Given the description of an element on the screen output the (x, y) to click on. 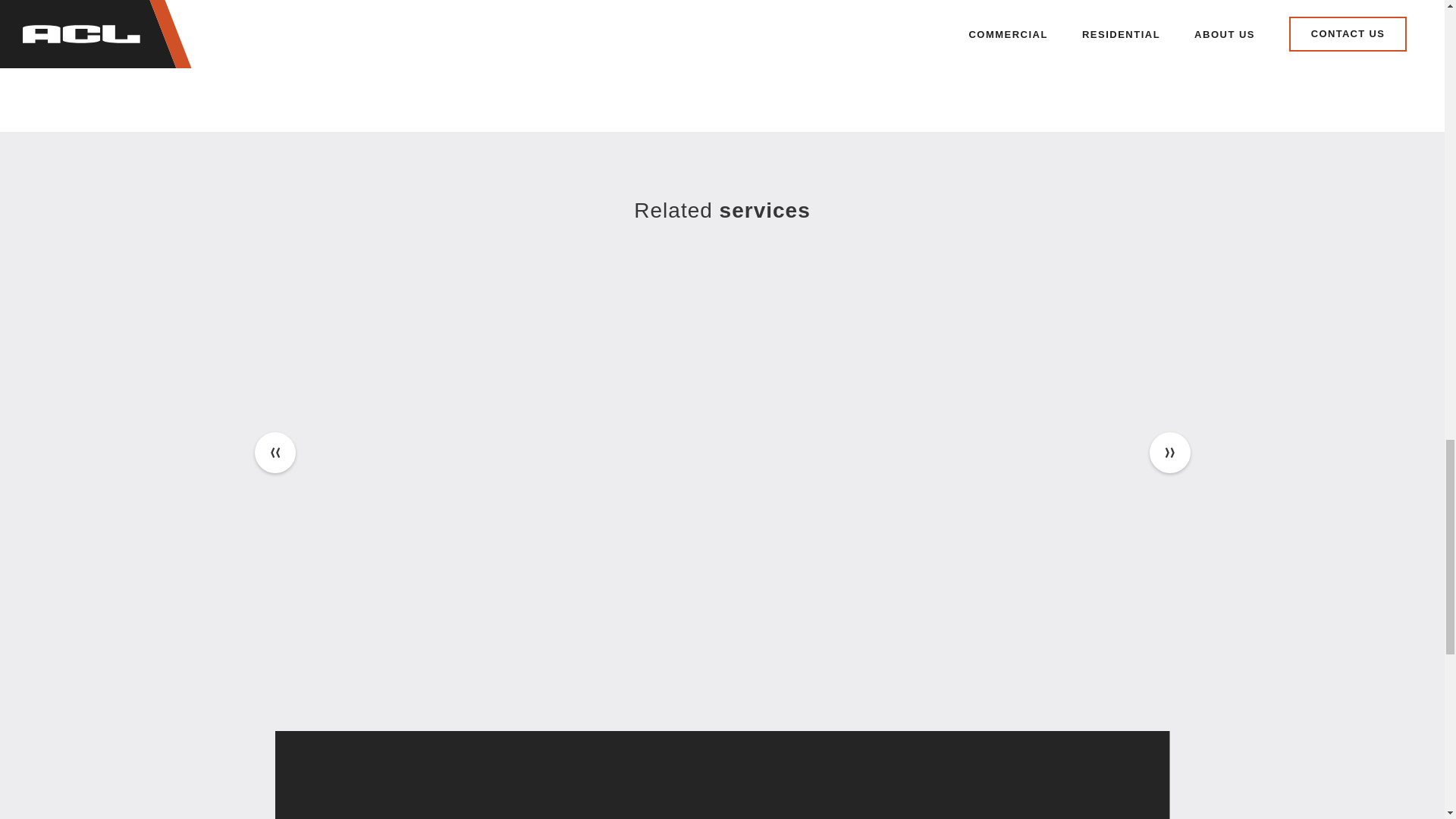
Share on Facebook (477, 54)
Share via Email (545, 54)
Share on LinkedIn (510, 54)
